Given the description of an element on the screen output the (x, y) to click on. 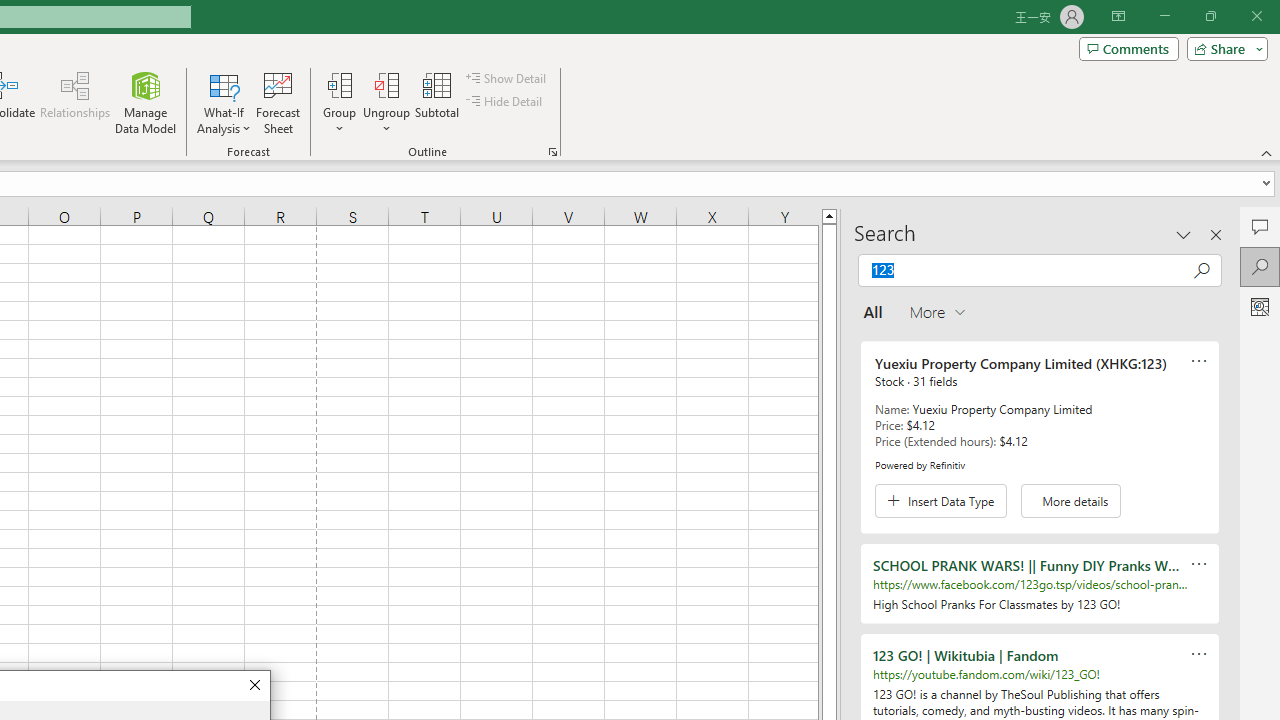
Manage Data Model (145, 102)
Show Detail (507, 78)
What-If Analysis (223, 102)
Close pane (1215, 234)
Ribbon Display Options (1118, 16)
Ungroup... (386, 102)
Forecast Sheet (278, 102)
Analyze Data (1260, 306)
Comments (1128, 48)
More Options (386, 121)
Task Pane Options (1183, 234)
Search (1260, 266)
Share (1223, 48)
Collapse the Ribbon (1267, 152)
